Given the description of an element on the screen output the (x, y) to click on. 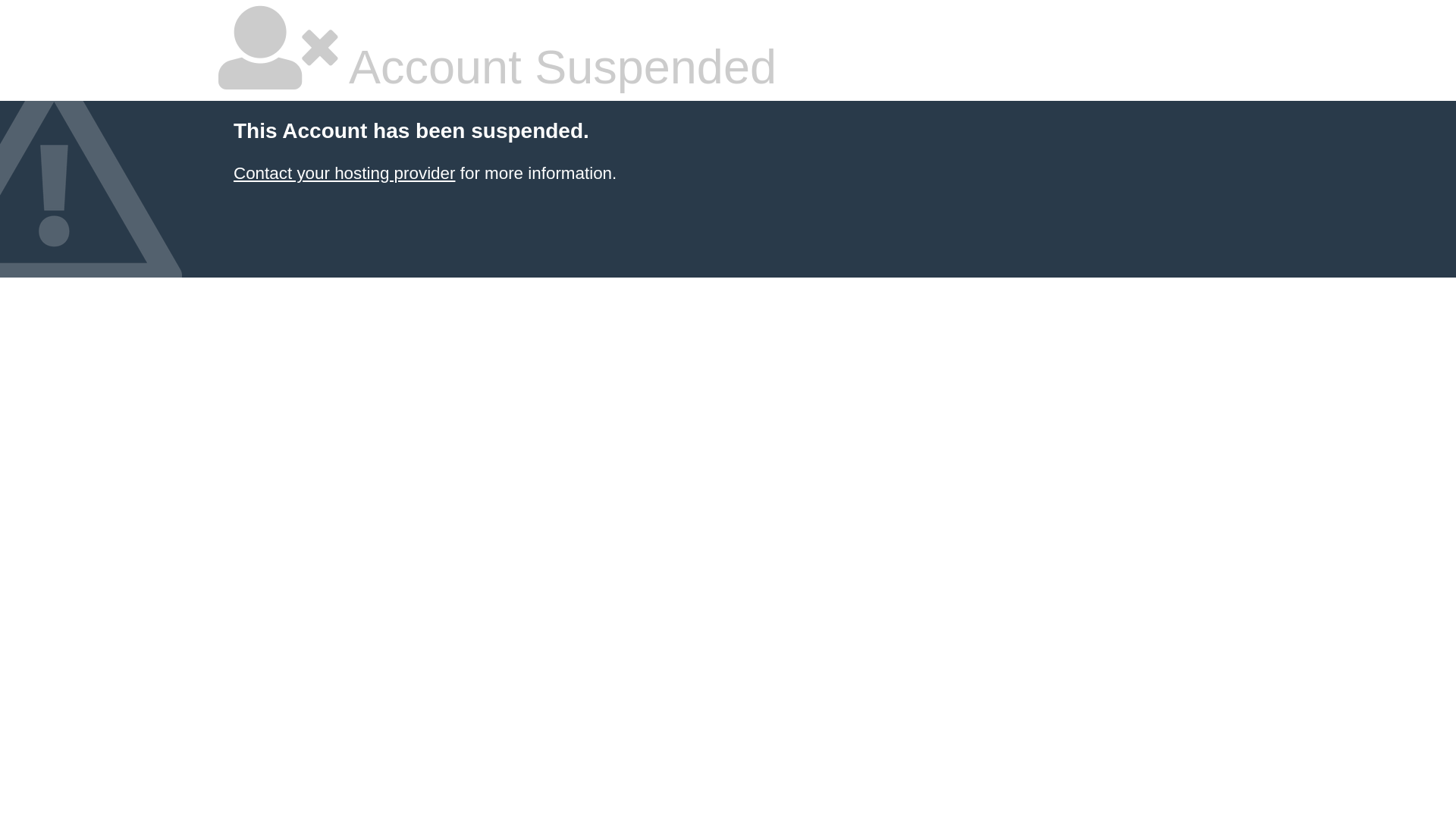
Contact your hosting provider Element type: text (344, 172)
